Given the description of an element on the screen output the (x, y) to click on. 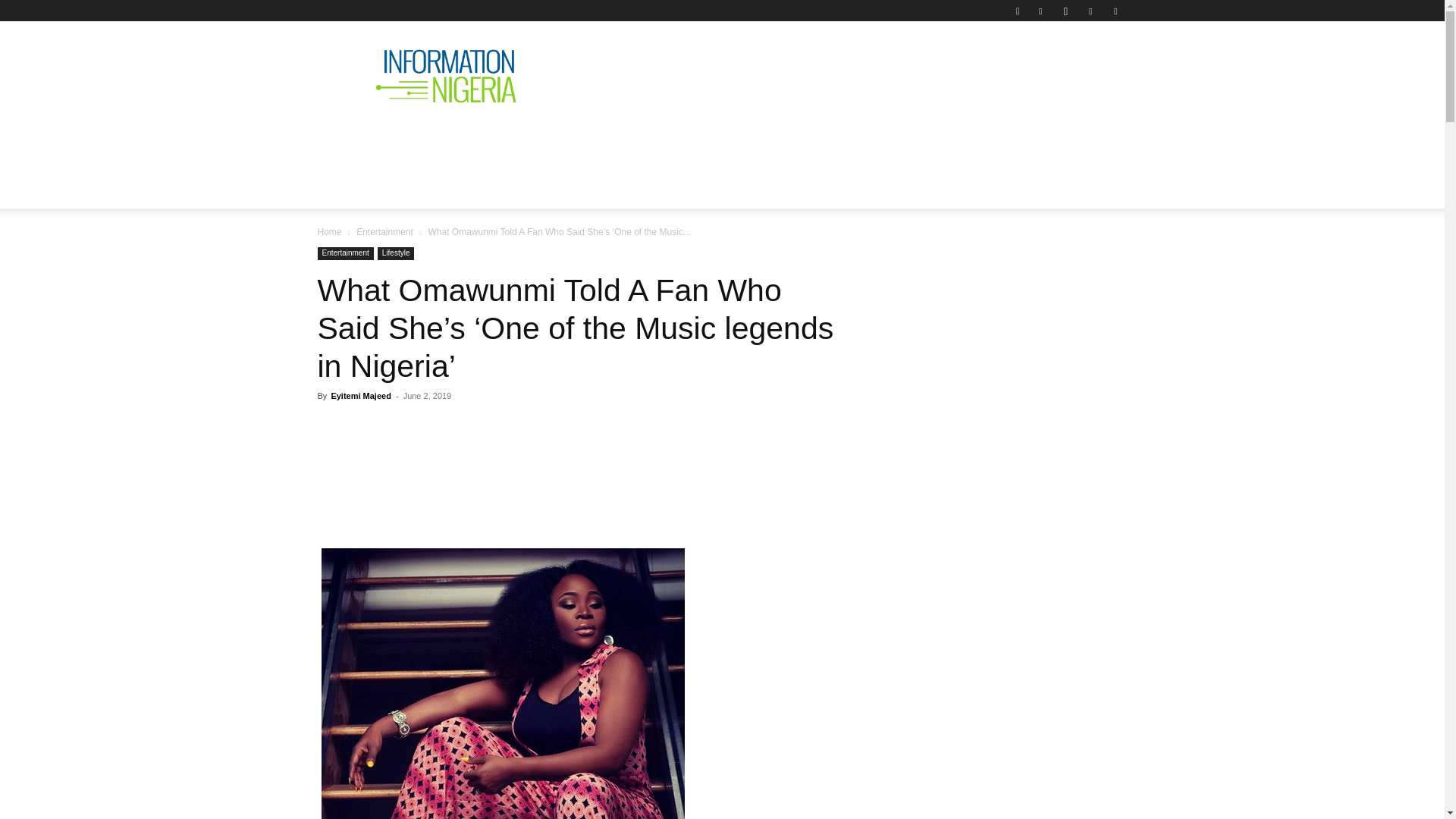
SPECIAL REPORTS (660, 139)
Search (1085, 64)
POLITICS (551, 139)
BBC PIDGIN (779, 139)
Nigeria News, Nigerian Newspaper (446, 76)
METRO NEWS (884, 139)
Instagram (1065, 10)
Facebook (1040, 10)
HOME (347, 139)
NATIONAL NEWS (444, 139)
